Given the description of an element on the screen output the (x, y) to click on. 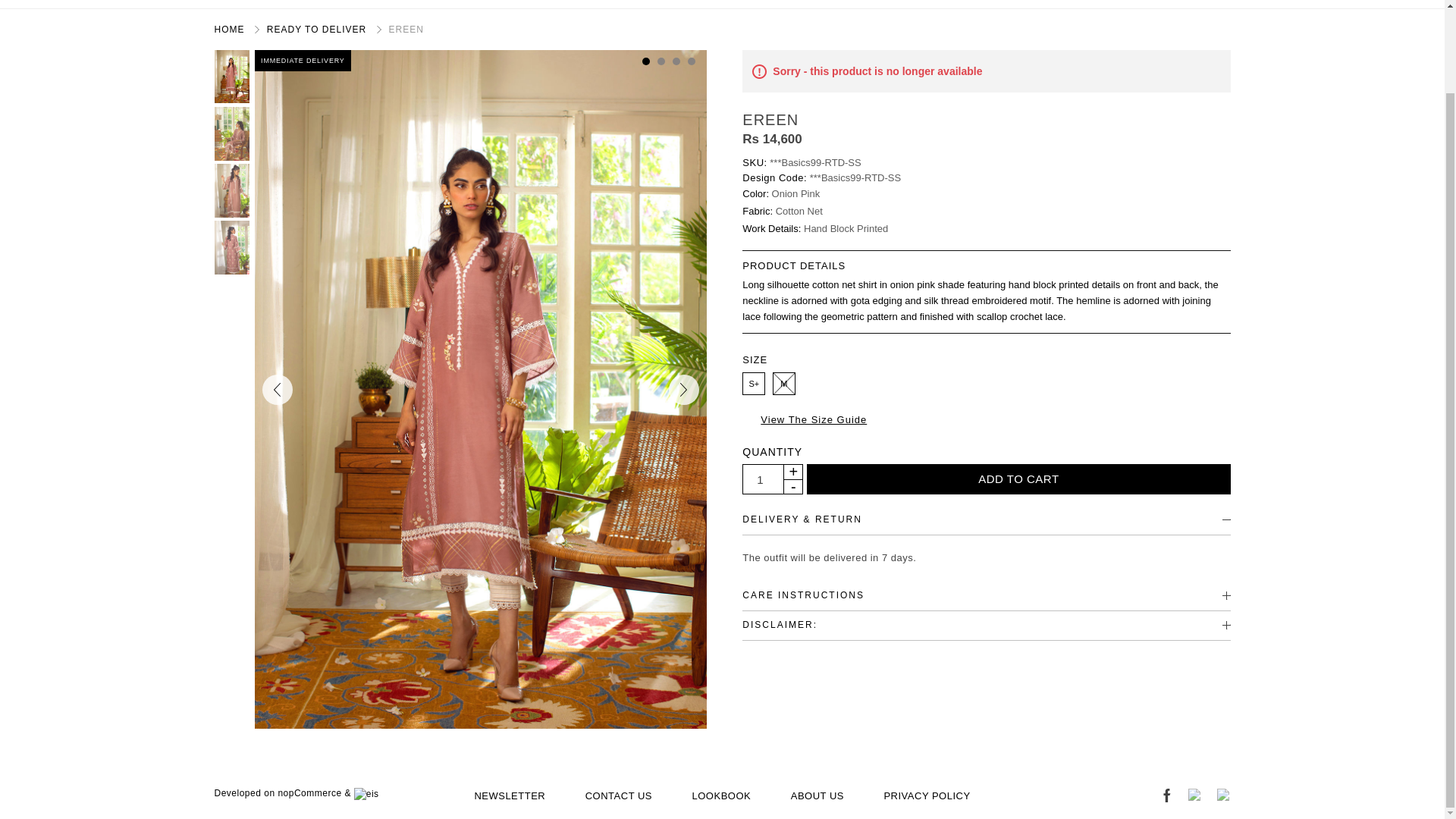
DESIGNER PICKS (1162, 4)
BASICS (556, 4)
FORMALS (1012, 4)
LUXURY PRET (631, 4)
GHAR KI SHADI (275, 4)
NEW ARRIVALS (481, 4)
OFF THE RAMP (1320, 4)
1 (759, 480)
- (792, 486)
READY TO DELIVER (378, 4)
